Given the description of an element on the screen output the (x, y) to click on. 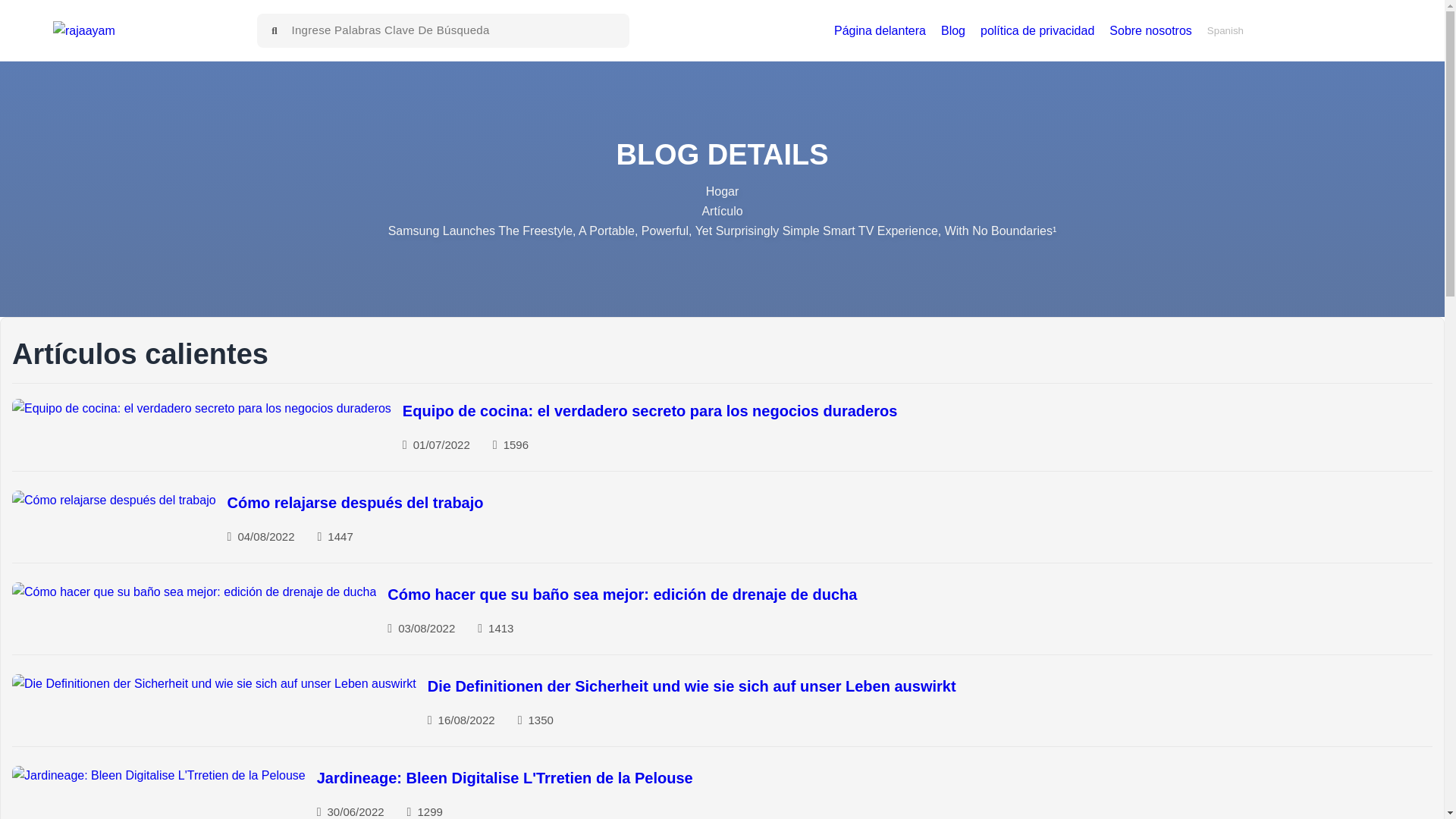
Jardineage: Bleen Digitalise L'Trretien de la Pelouse (505, 777)
Sobre nosotros (1150, 30)
Jardineage: Bleen Digitalise L'Trretien de la Pelouse (505, 777)
Blog (952, 30)
Jardineage: Bleen Digitalise L'Trretien de la Pelouse (158, 775)
Spanish (1225, 30)
Blog (952, 30)
rajaayam (83, 30)
Search Submit  (274, 30)
Sobre nosotros (1150, 30)
Hogar (722, 191)
